Given the description of an element on the screen output the (x, y) to click on. 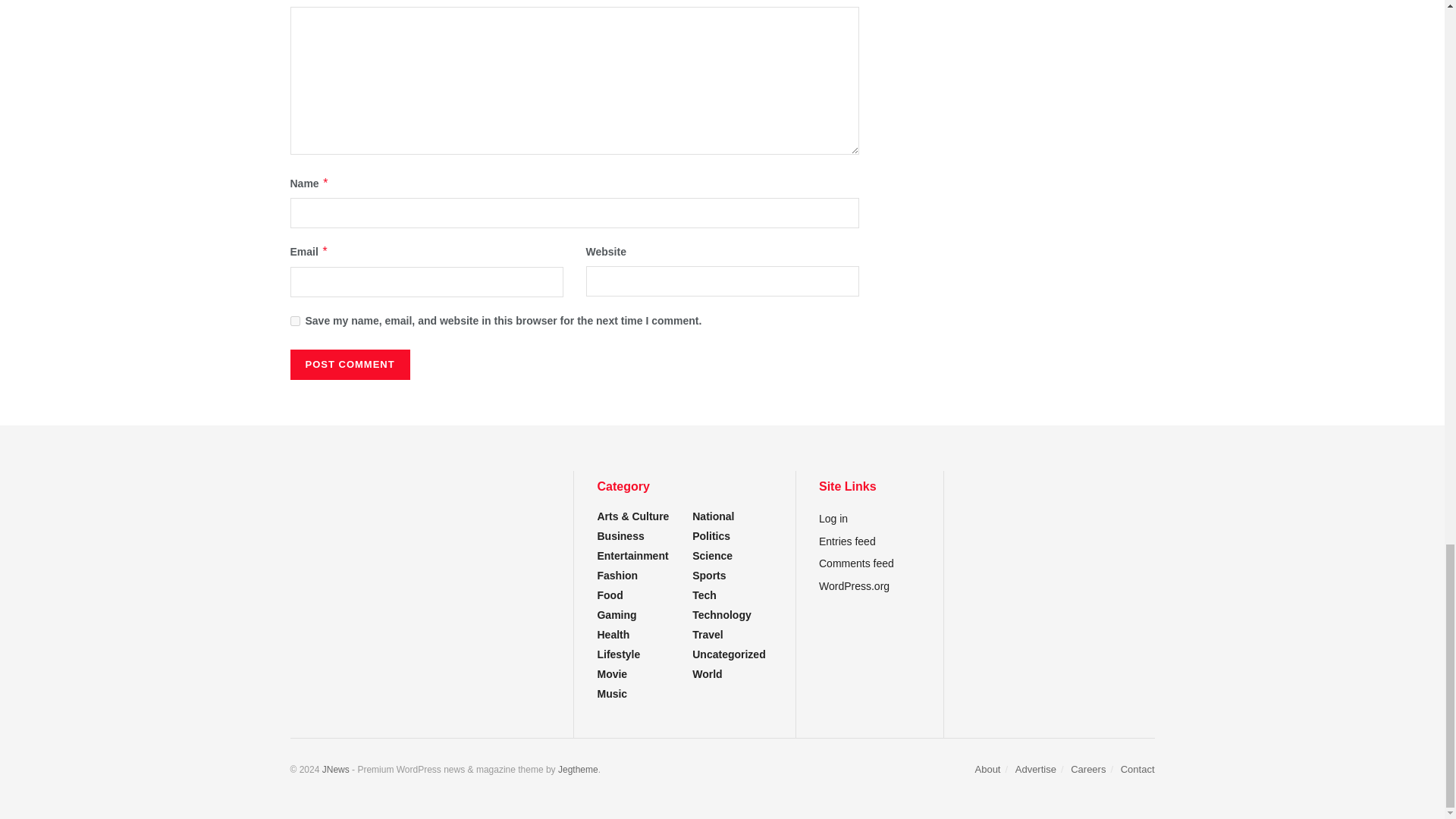
Post Comment (349, 364)
Jegtheme (577, 769)
yes (294, 320)
